Given the description of an element on the screen output the (x, y) to click on. 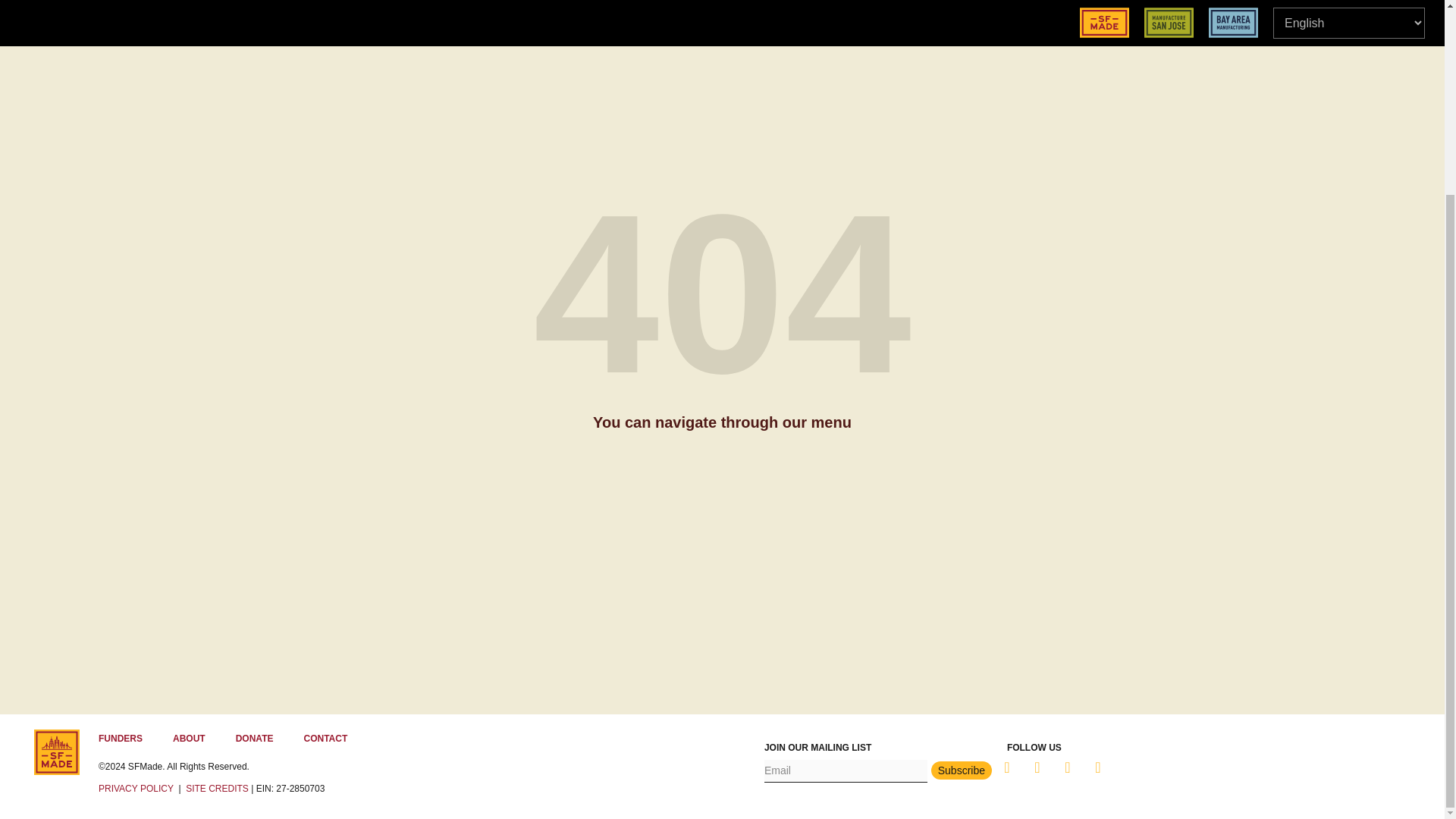
SITE CREDITS (217, 787)
CONTACT (325, 738)
Subscribe (961, 770)
PRIVACY POLICY (136, 787)
ABOUT (189, 738)
FUNDERS (119, 738)
SFMade (56, 751)
DONATE (254, 738)
